Given the description of an element on the screen output the (x, y) to click on. 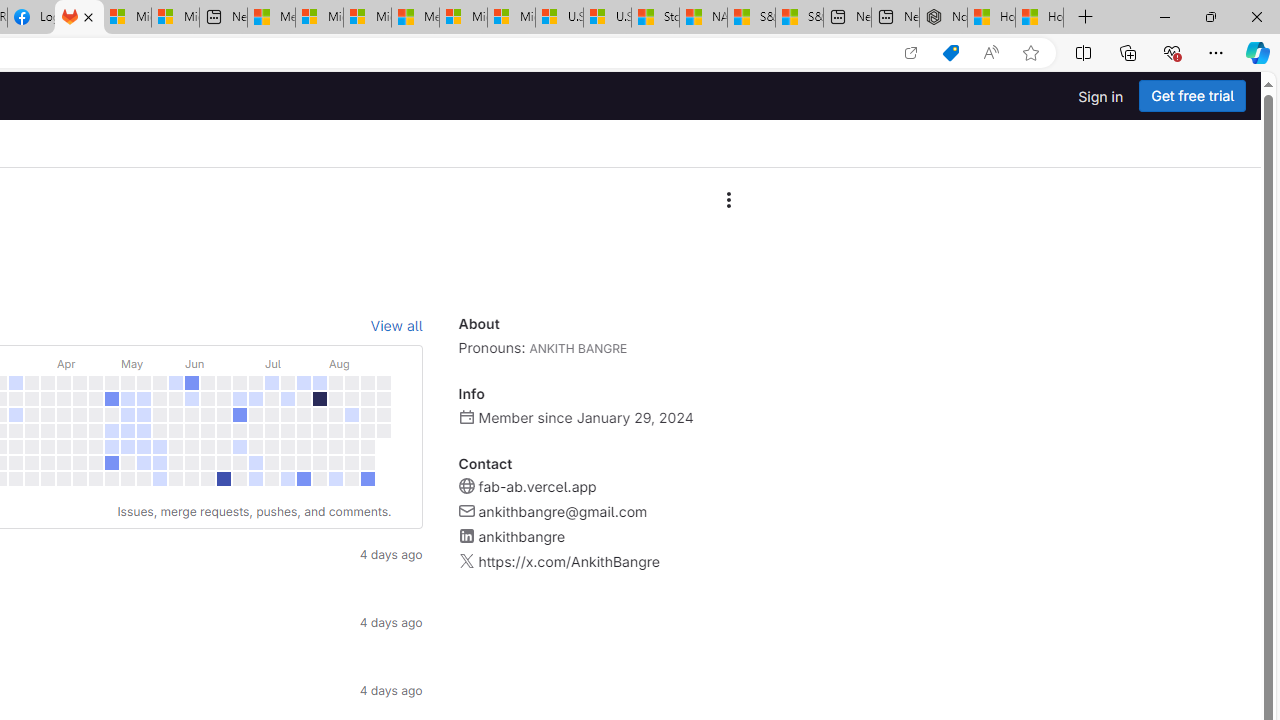
Get free trial (1192, 95)
